Given the description of an element on the screen output the (x, y) to click on. 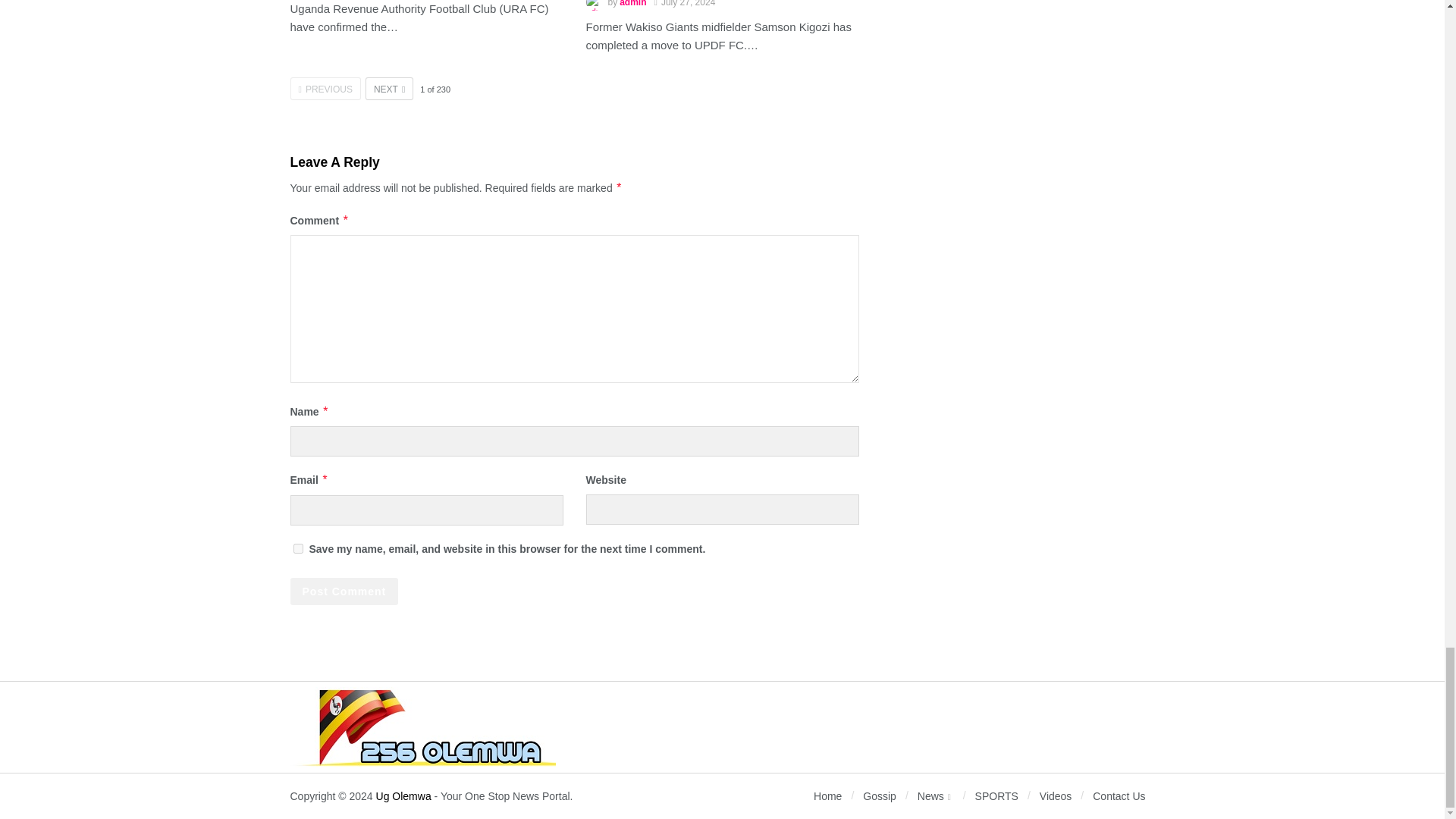
yes (297, 548)
Post Comment (343, 591)
